Given the description of an element on the screen output the (x, y) to click on. 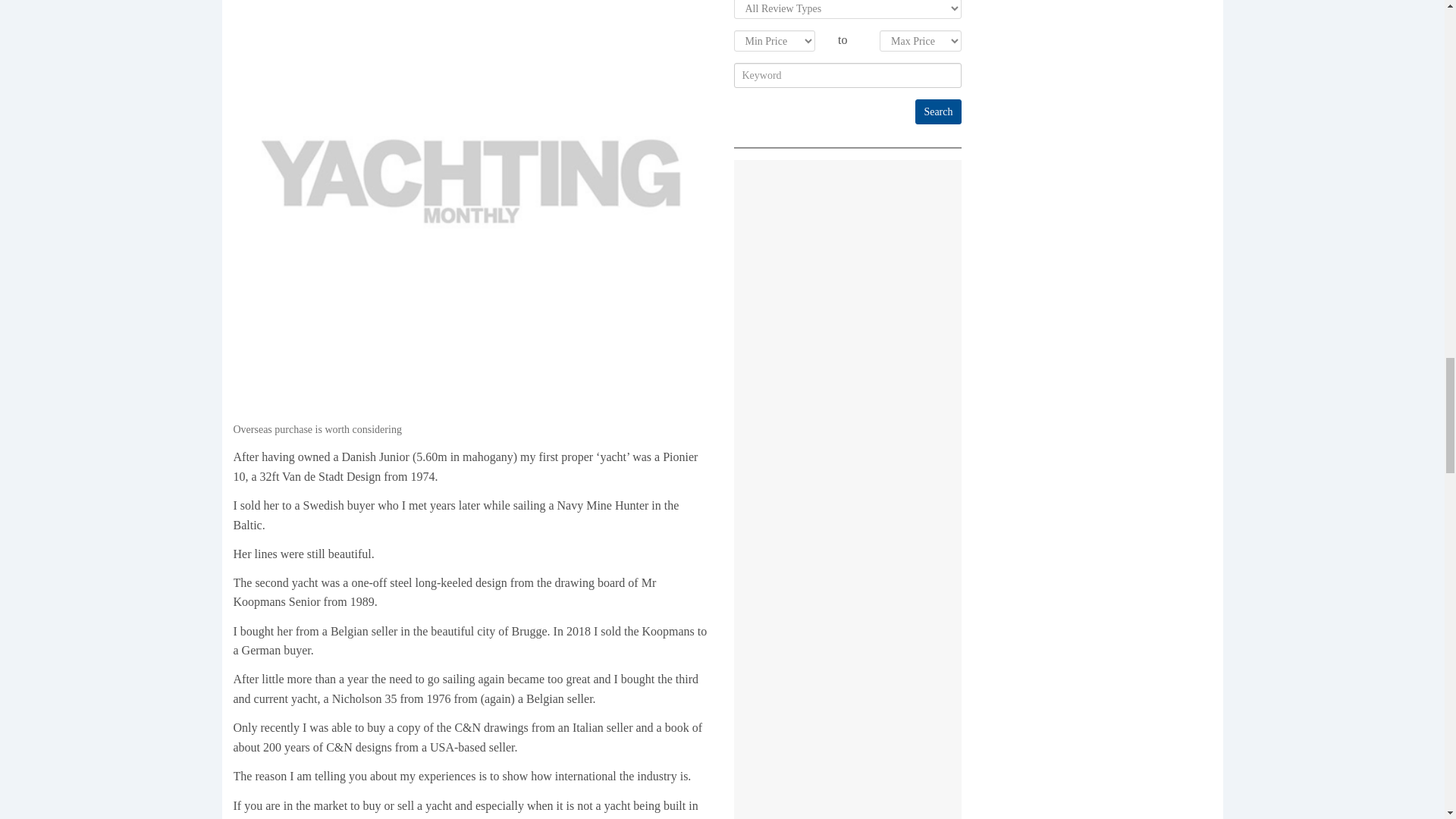
Search (937, 111)
